Given the description of an element on the screen output the (x, y) to click on. 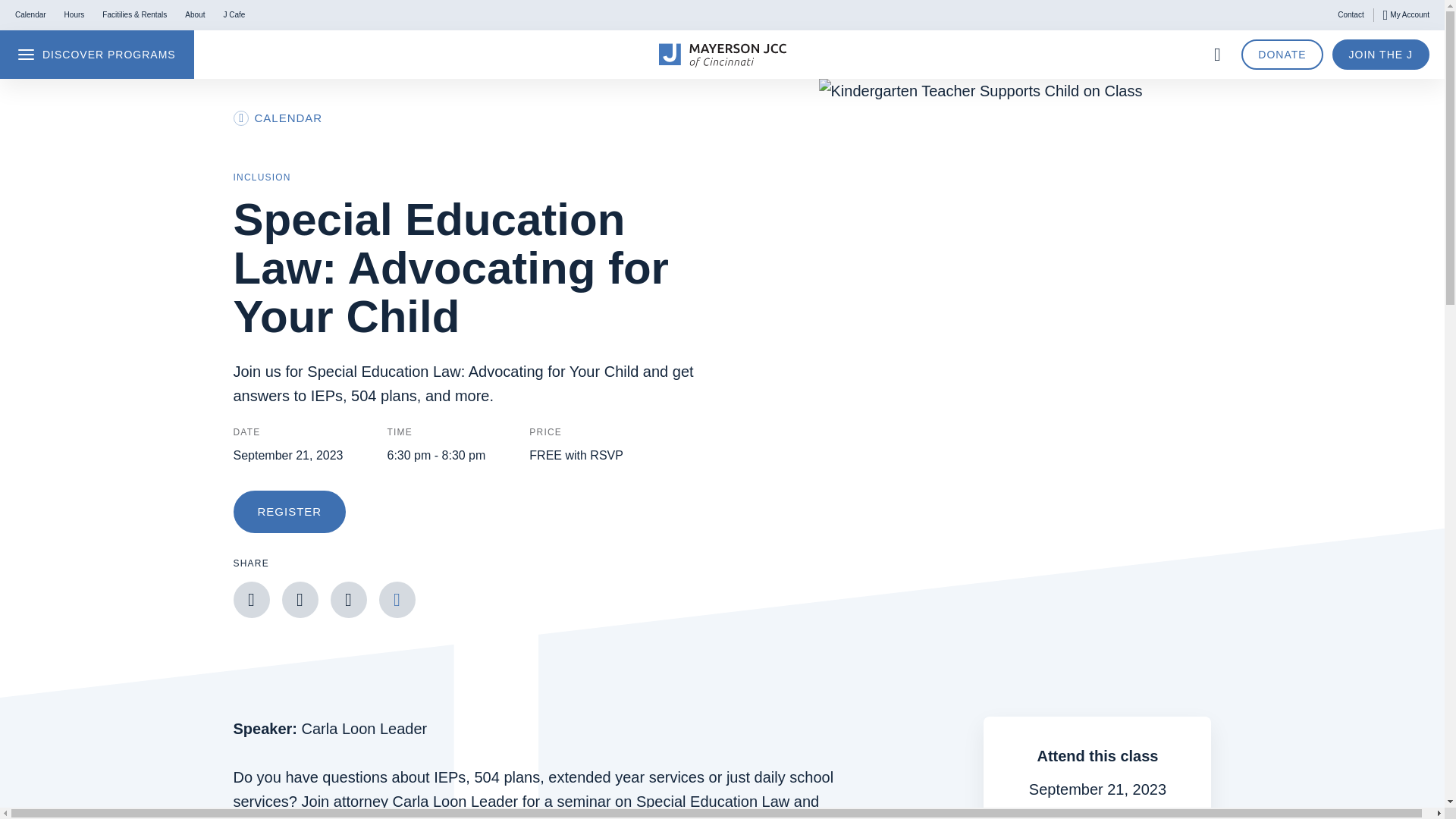
Hours (74, 15)
Contact (1350, 15)
My Account (1406, 15)
About (194, 15)
J Cafe (233, 15)
Calendar (30, 15)
DISCOVER PROGRAMS (96, 54)
